Given the description of an element on the screen output the (x, y) to click on. 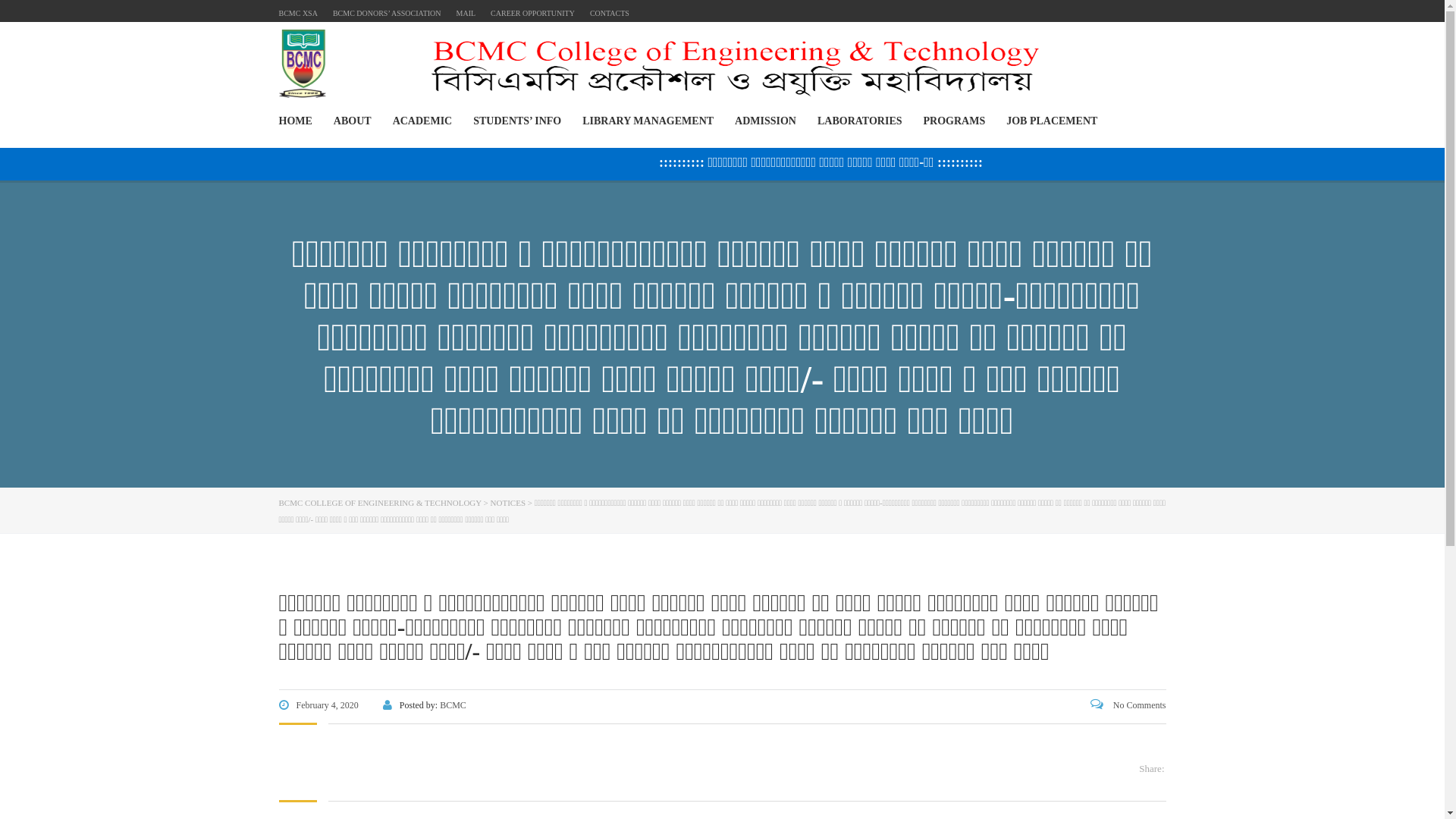
Bangladesh Technical Education Board, Dhaka Element type: text (835, 642)
ACADEMIC Element type: text (422, 121)
CONTACTS Element type: text (609, 13)
MAIL Element type: text (466, 13)
NOTICES Element type: text (507, 502)
Directorate of Technical Education Element type: text (812, 597)
PROGRAMS Element type: text (954, 121)
LIBRARY MANAGEMENT Element type: text (647, 121)
Skills and Training Enhancement Project (STEP) Element type: text (838, 665)
JOB PLACEMENT Element type: text (1051, 121)
University of Rajshahi Element type: text (790, 574)
BCMC XSA Element type: text (298, 13)
admin@bcmc.edu.bd Element type: text (1032, 712)
ADMISSION Element type: text (765, 121)
Directorate of Secondary and Higher Education Element type: text (835, 620)
LABORATORIES Element type: text (859, 121)
ABOUT Element type: text (352, 121)
No Comments Element type: text (1128, 704)
HOME Element type: text (295, 121)
CAREER OPPORTUNITY Element type: text (532, 13)
BCMC COLLEGE OF ENGINEERING & TECHNOLOGY Element type: text (380, 502)
Ministry of Education Element type: text (789, 551)
